Given the description of an element on the screen output the (x, y) to click on. 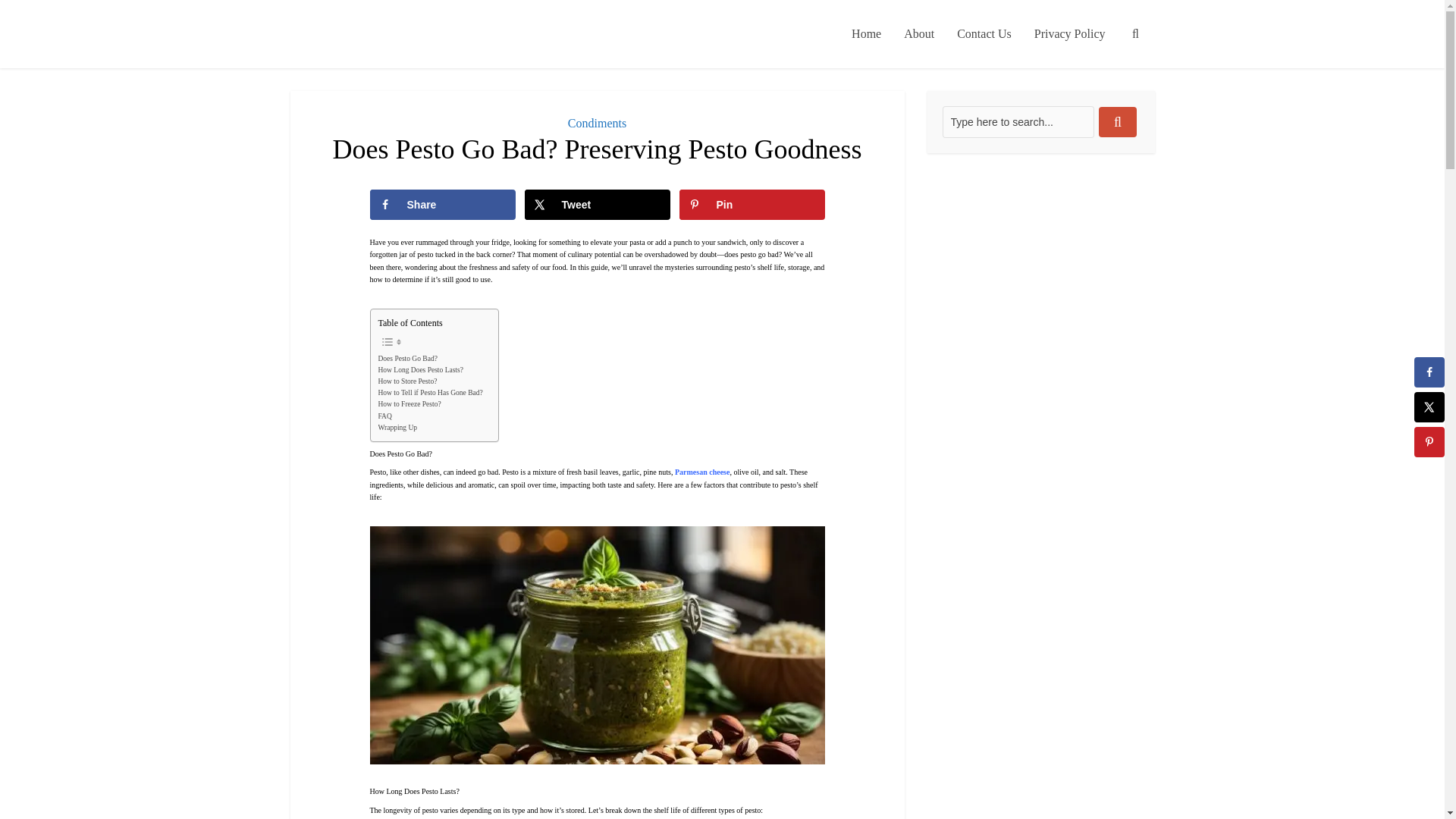
Share on Facebook (442, 204)
Wrapping Up (396, 428)
FAQ (384, 416)
Home (866, 33)
How to Freeze Pesto? (409, 404)
How to Store Pesto? (406, 381)
Contact Us (983, 33)
Does Pesto Go Bad? (406, 358)
How to Tell if Pesto Has Gone Bad? (429, 392)
How to Tell if Pesto Has Gone Bad? (429, 392)
Privacy Policy (1069, 33)
About (918, 33)
How to Store Pesto? (406, 381)
Condiments (596, 123)
Parmesan cheese (702, 471)
